Given the description of an element on the screen output the (x, y) to click on. 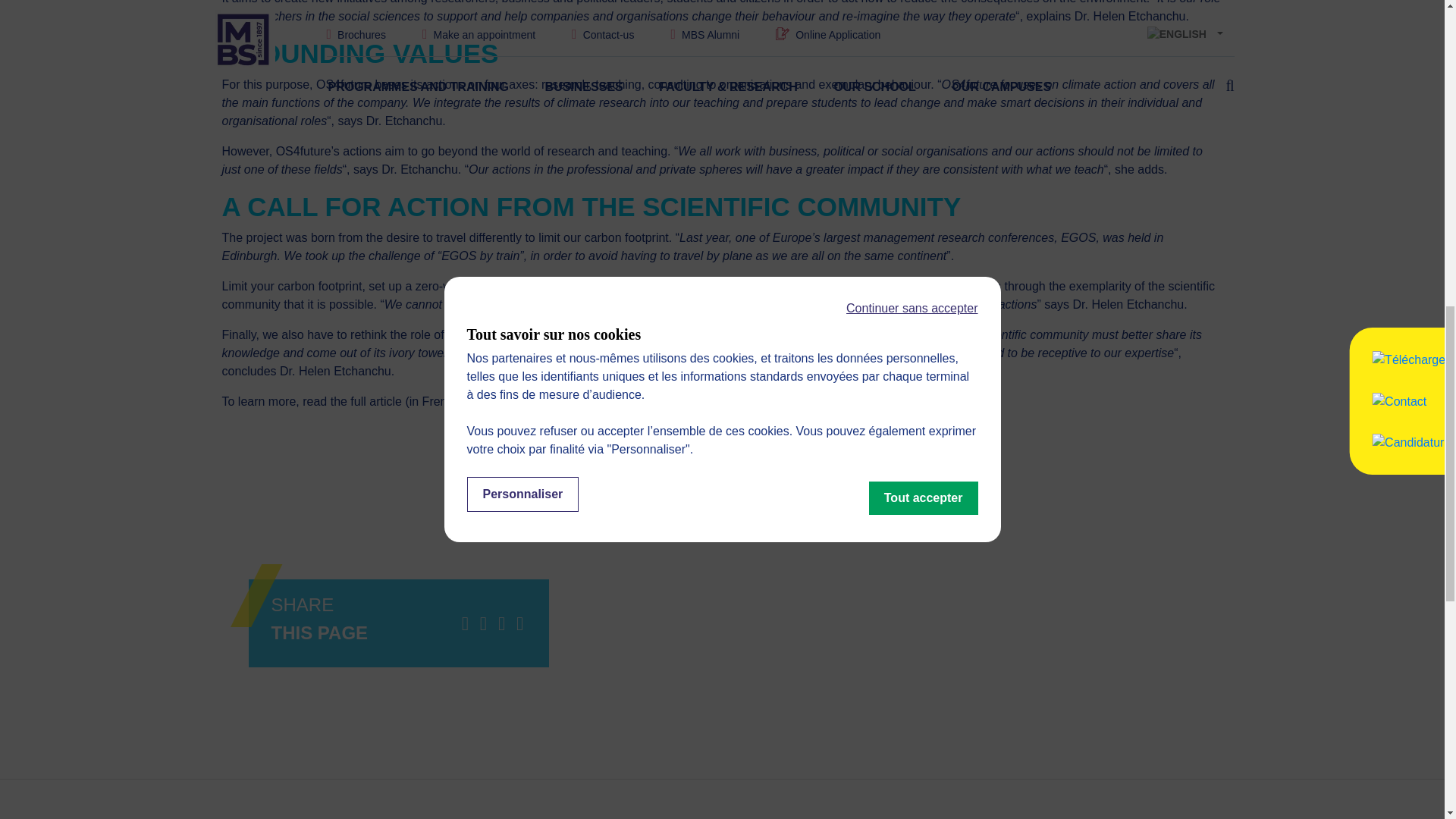
Back to the news list (722, 480)
